Given the description of an element on the screen output the (x, y) to click on. 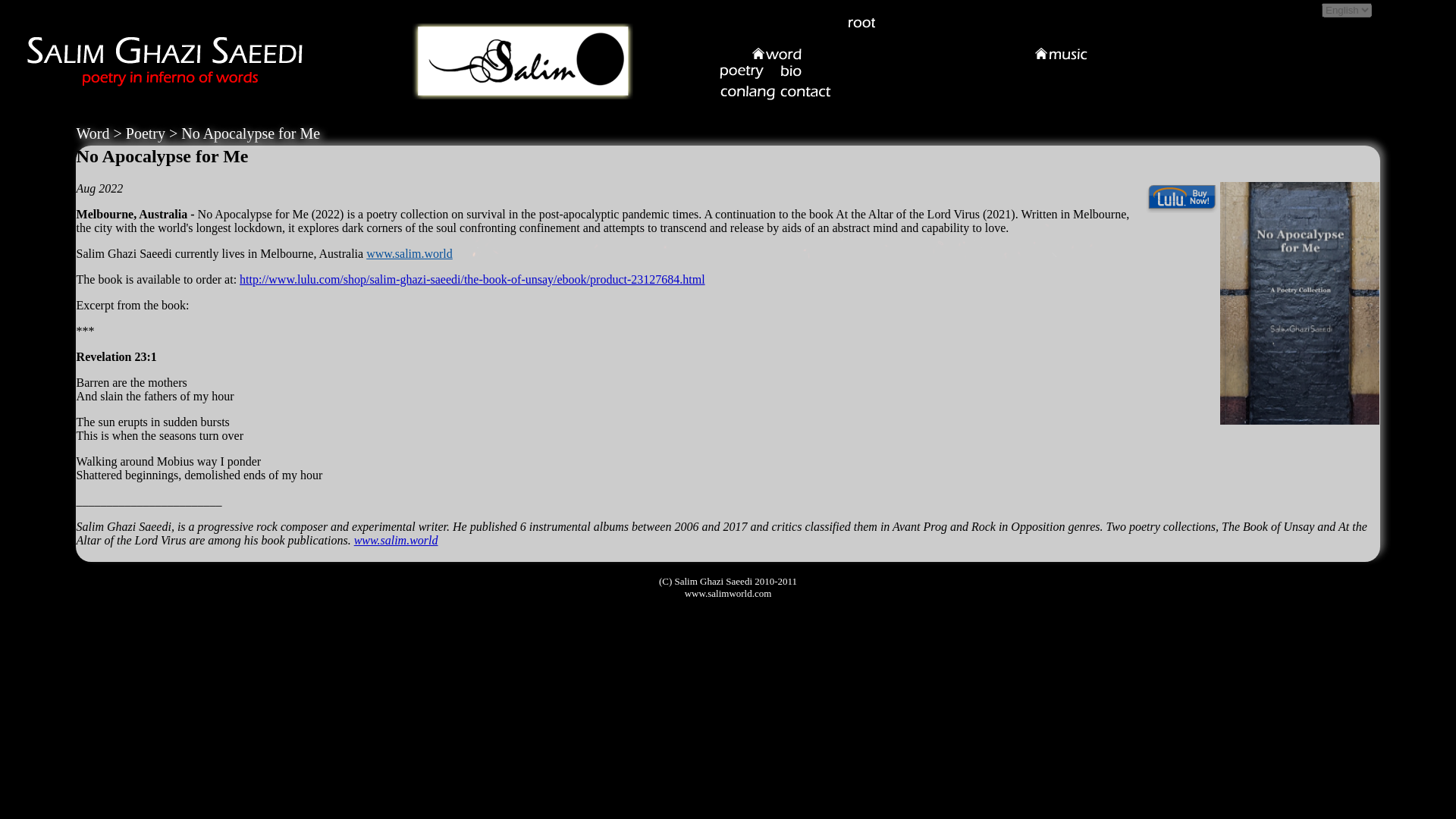
www.salim.world (409, 253)
www.salim.world (395, 540)
www.salimworld.com (727, 593)
